Given the description of an element on the screen output the (x, y) to click on. 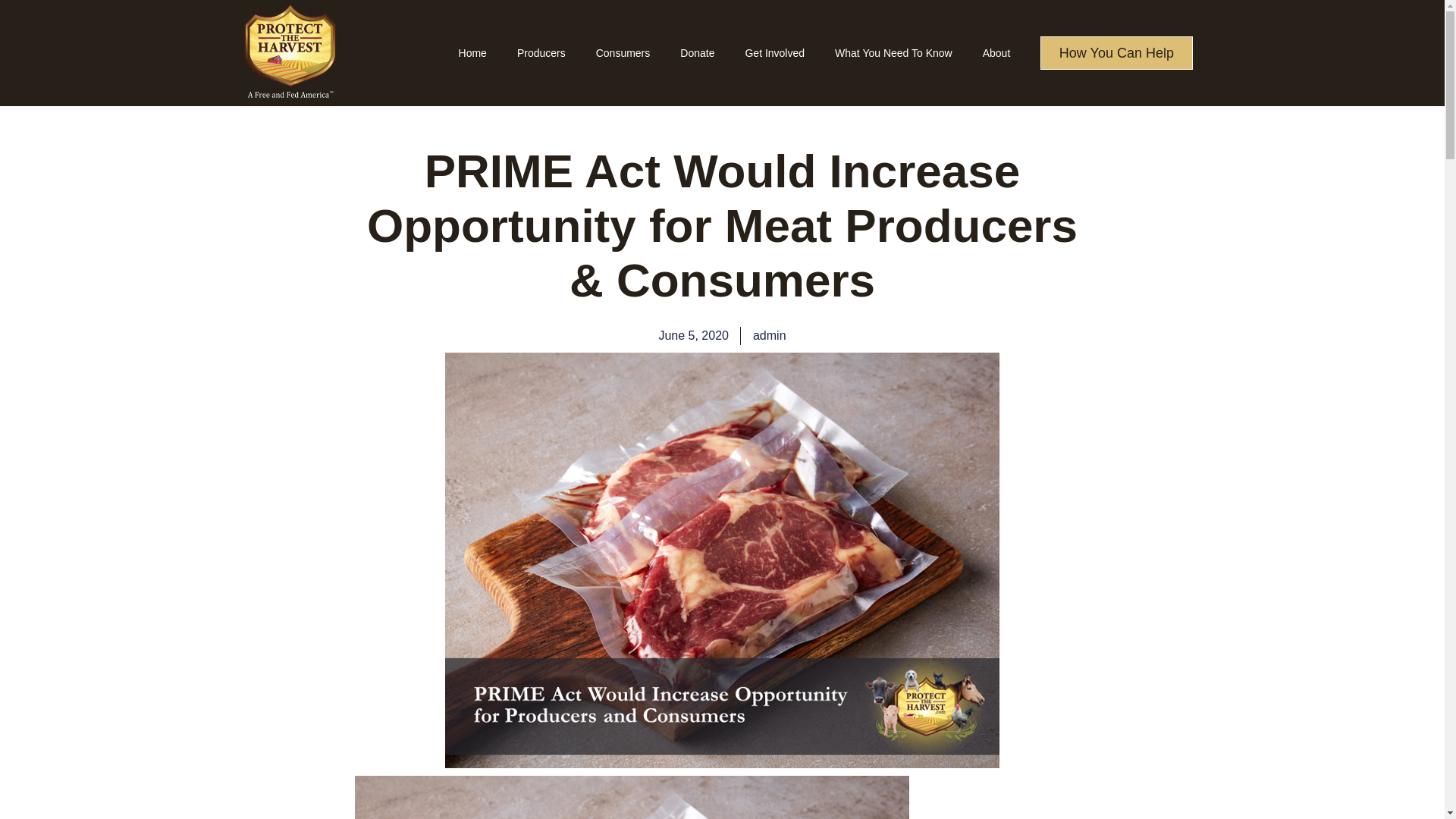
Consumers (622, 53)
Get Involved (774, 53)
Home (473, 53)
What You Need To Know (893, 53)
Producers (541, 53)
Donate (697, 53)
